Given the description of an element on the screen output the (x, y) to click on. 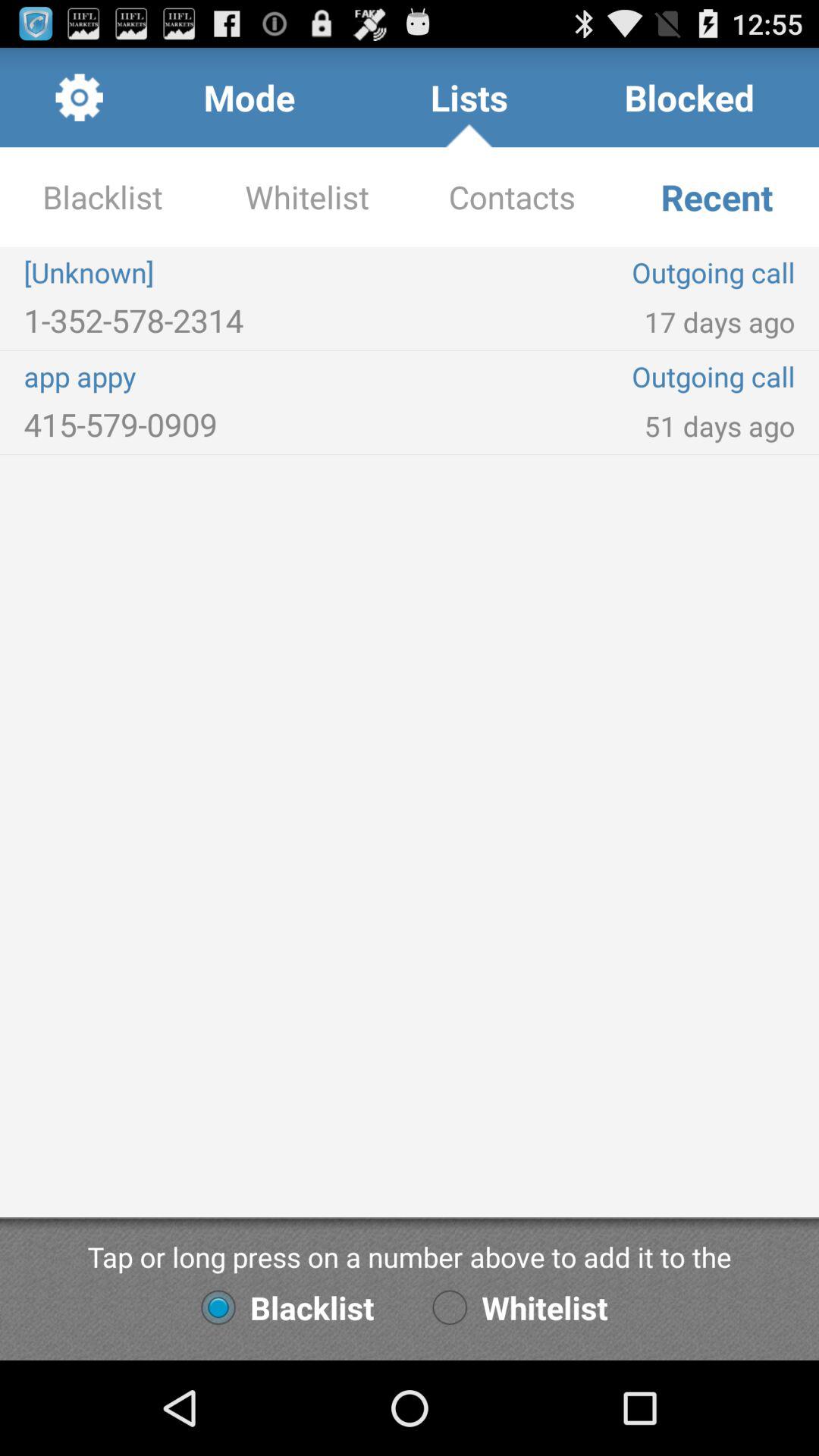
scroll to lists icon (469, 97)
